Given the description of an element on the screen output the (x, y) to click on. 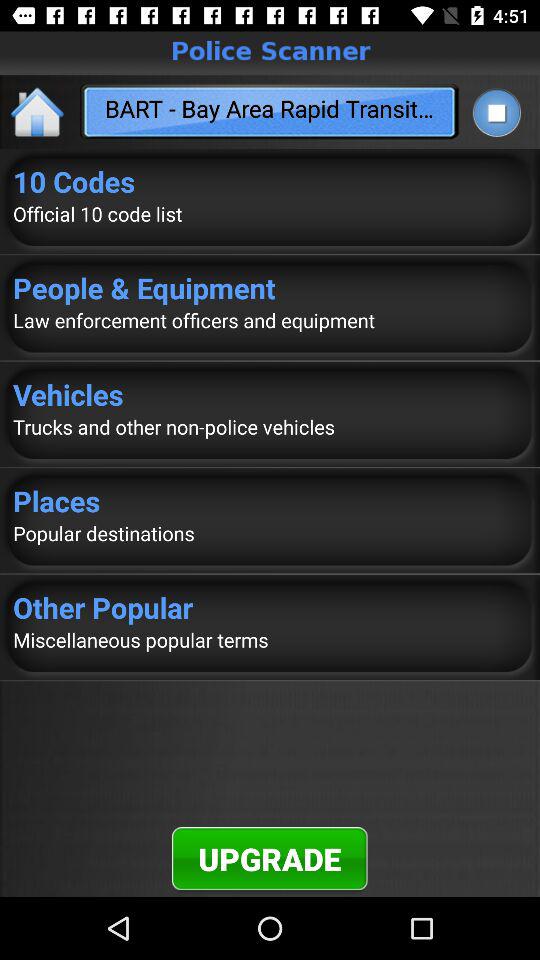
click the icon above the 10 codes item (38, 111)
